Given the description of an element on the screen output the (x, y) to click on. 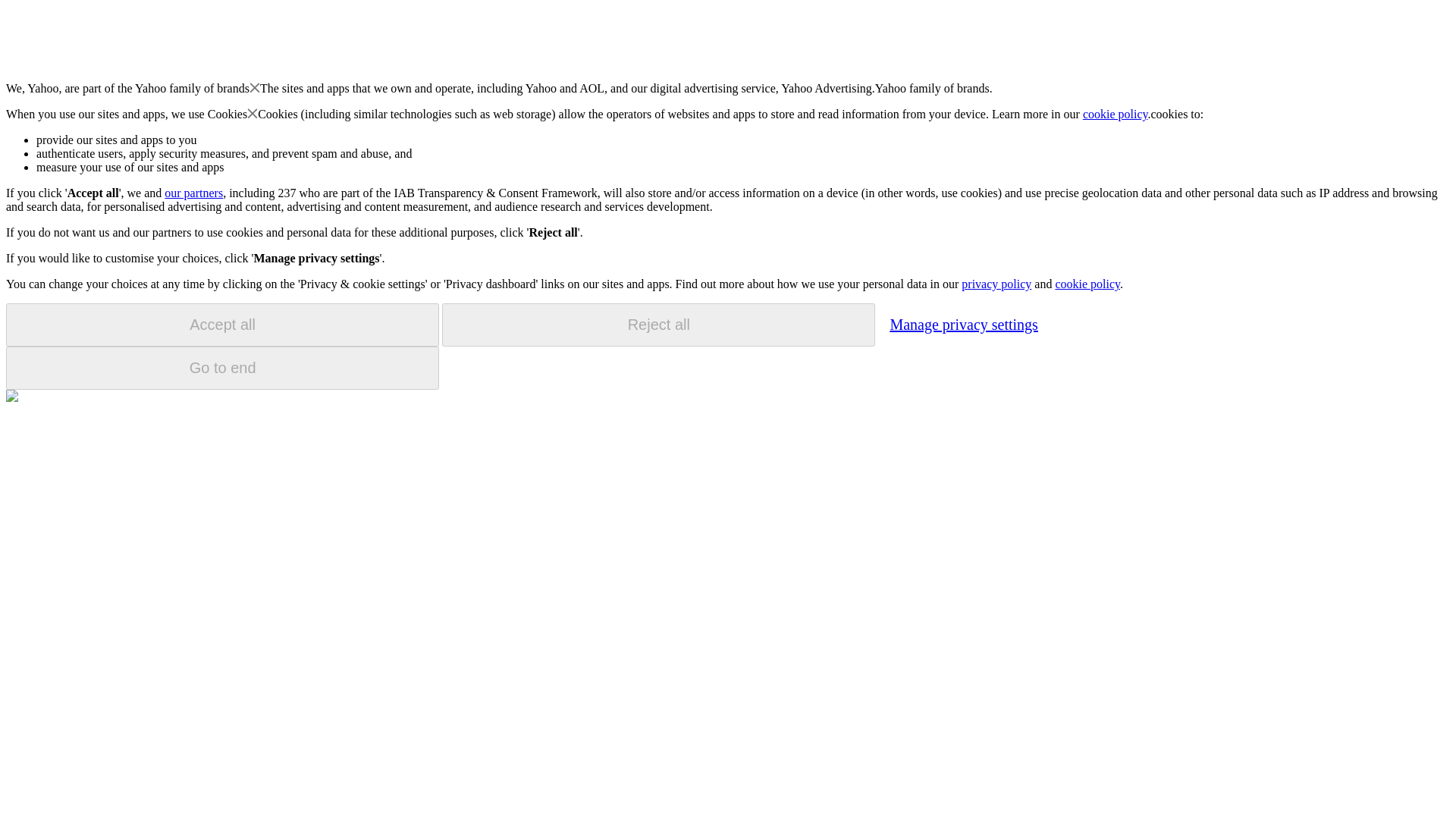
cookie policy (1086, 283)
Go to end (222, 367)
our partners (193, 192)
cookie policy (1115, 113)
Accept all (222, 324)
privacy policy (995, 283)
Manage privacy settings (963, 323)
Reject all (658, 324)
